Given the description of an element on the screen output the (x, y) to click on. 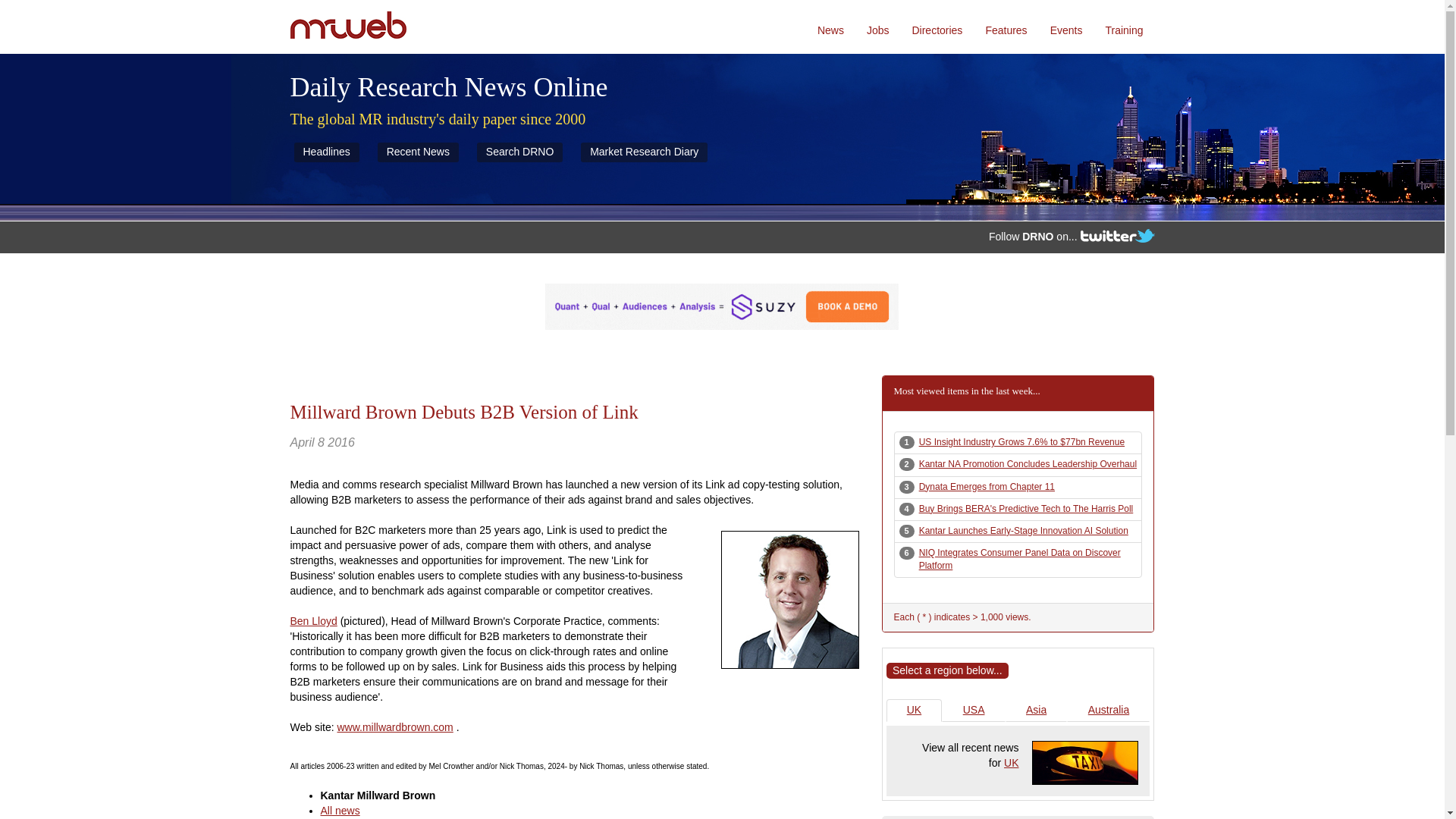
All news (339, 810)
Features (1006, 26)
Ben Lloyd (312, 621)
Follow DRNO on... Twitter (1117, 235)
Directories (936, 26)
UK (913, 710)
Buy Brings BERA's Predictive Tech to The Harris Poll (1026, 508)
Dynata Emerges from Chapter 11 (986, 486)
Asia (1036, 710)
UK (1085, 762)
Training (1123, 26)
Kantar NA Promotion Concludes Leadership Overhaul (1027, 463)
Market Research Diary (643, 152)
Search DRNO (519, 152)
NIQ Integrates Consumer Panel Data on Discover Platform (1019, 558)
